Given the description of an element on the screen output the (x, y) to click on. 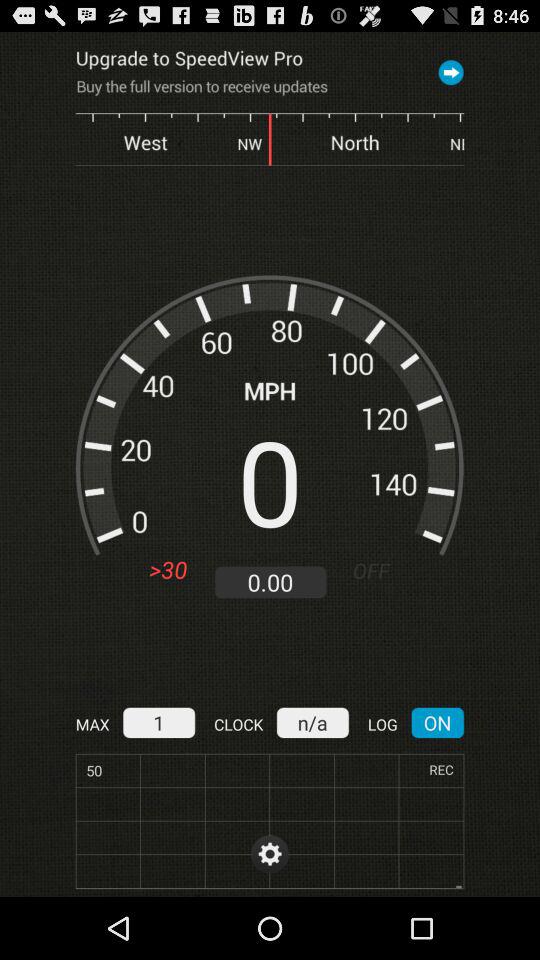
app settings (269, 854)
